Given the description of an element on the screen output the (x, y) to click on. 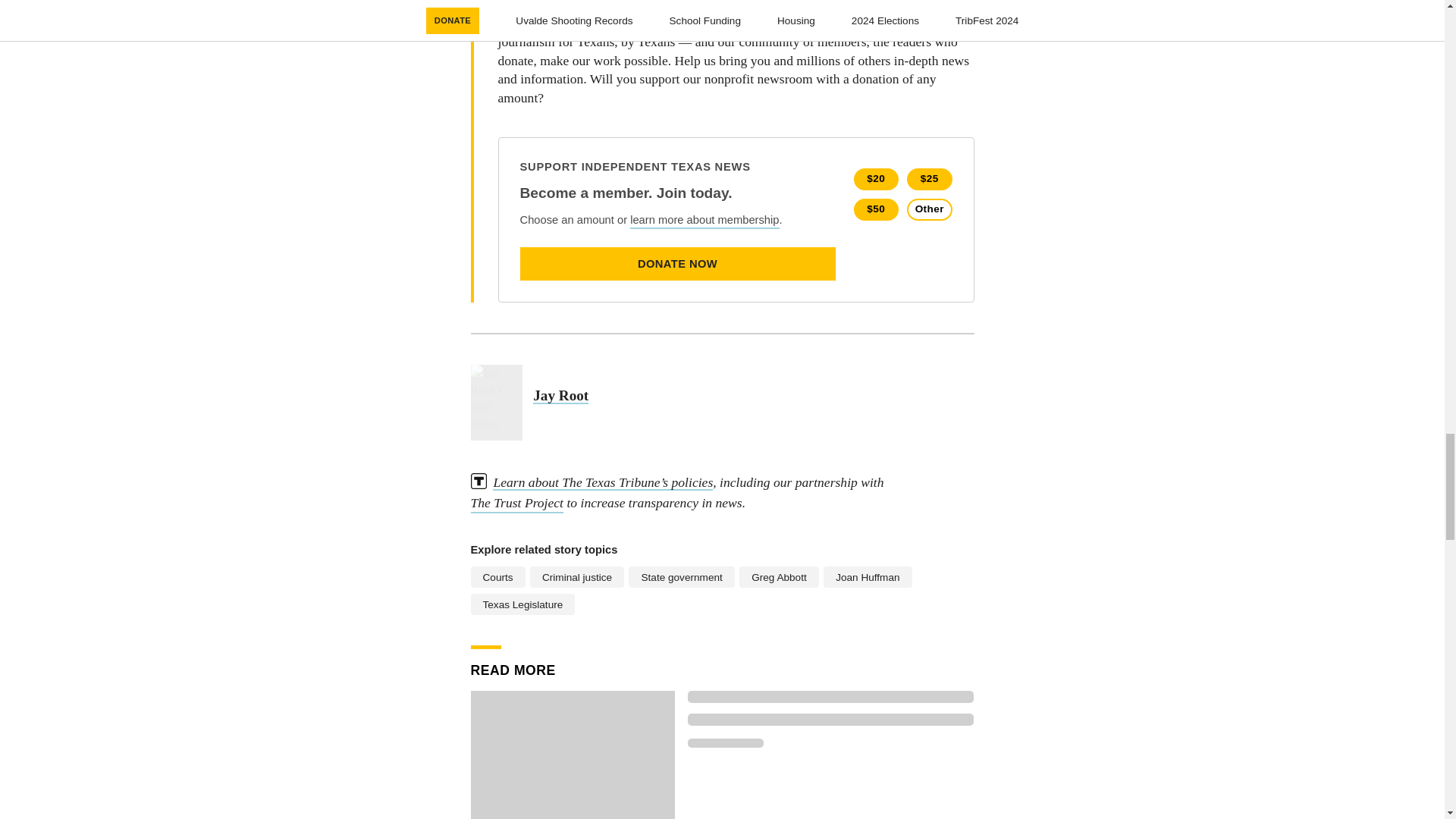
Loading indicator (830, 719)
Loading indicator (724, 742)
Loading indicator (830, 696)
